Given the description of an element on the screen output the (x, y) to click on. 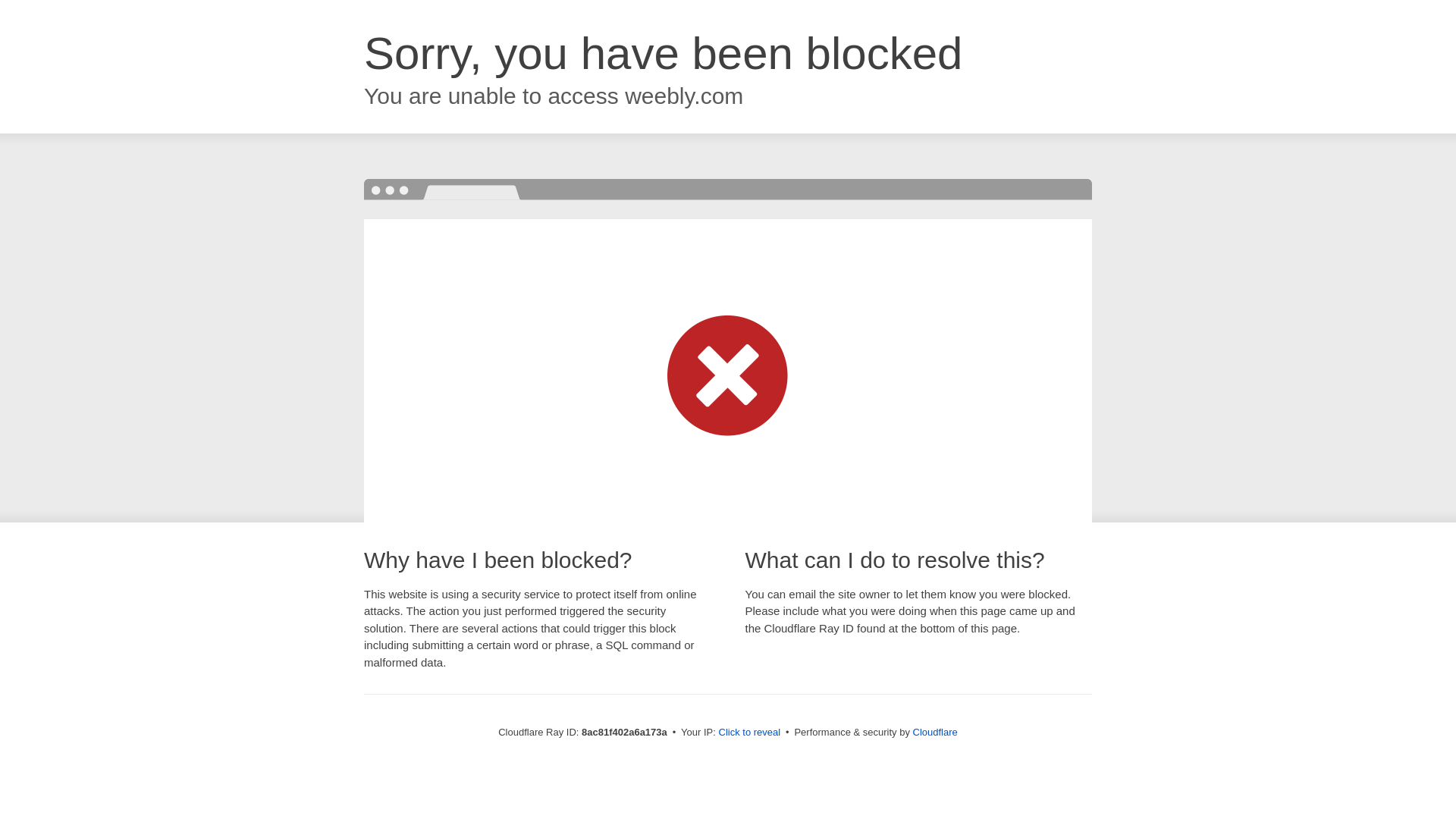
Cloudflare (935, 731)
Click to reveal (749, 732)
